Given the description of an element on the screen output the (x, y) to click on. 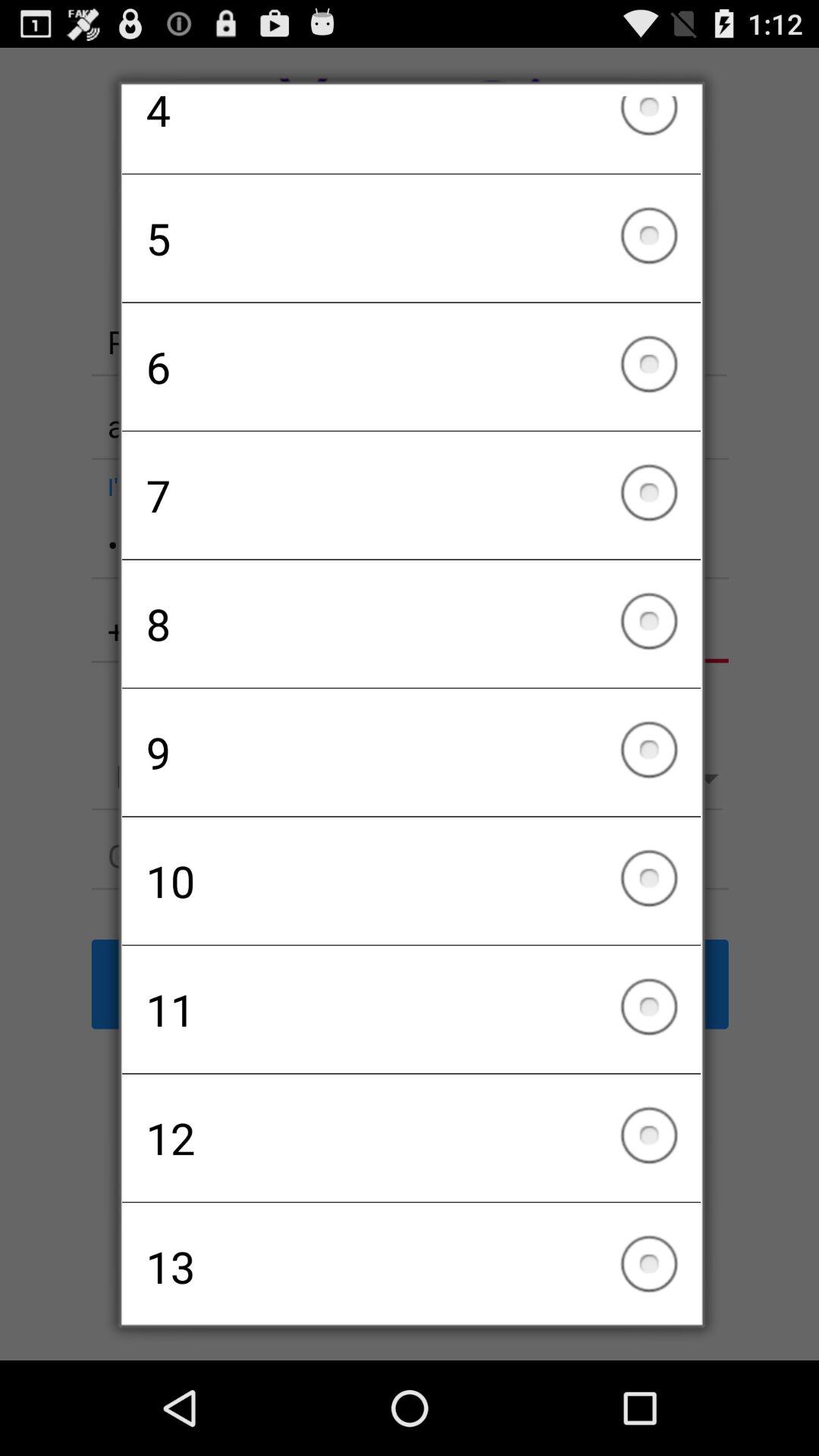
choose the 11 (411, 1009)
